Given the description of an element on the screen output the (x, y) to click on. 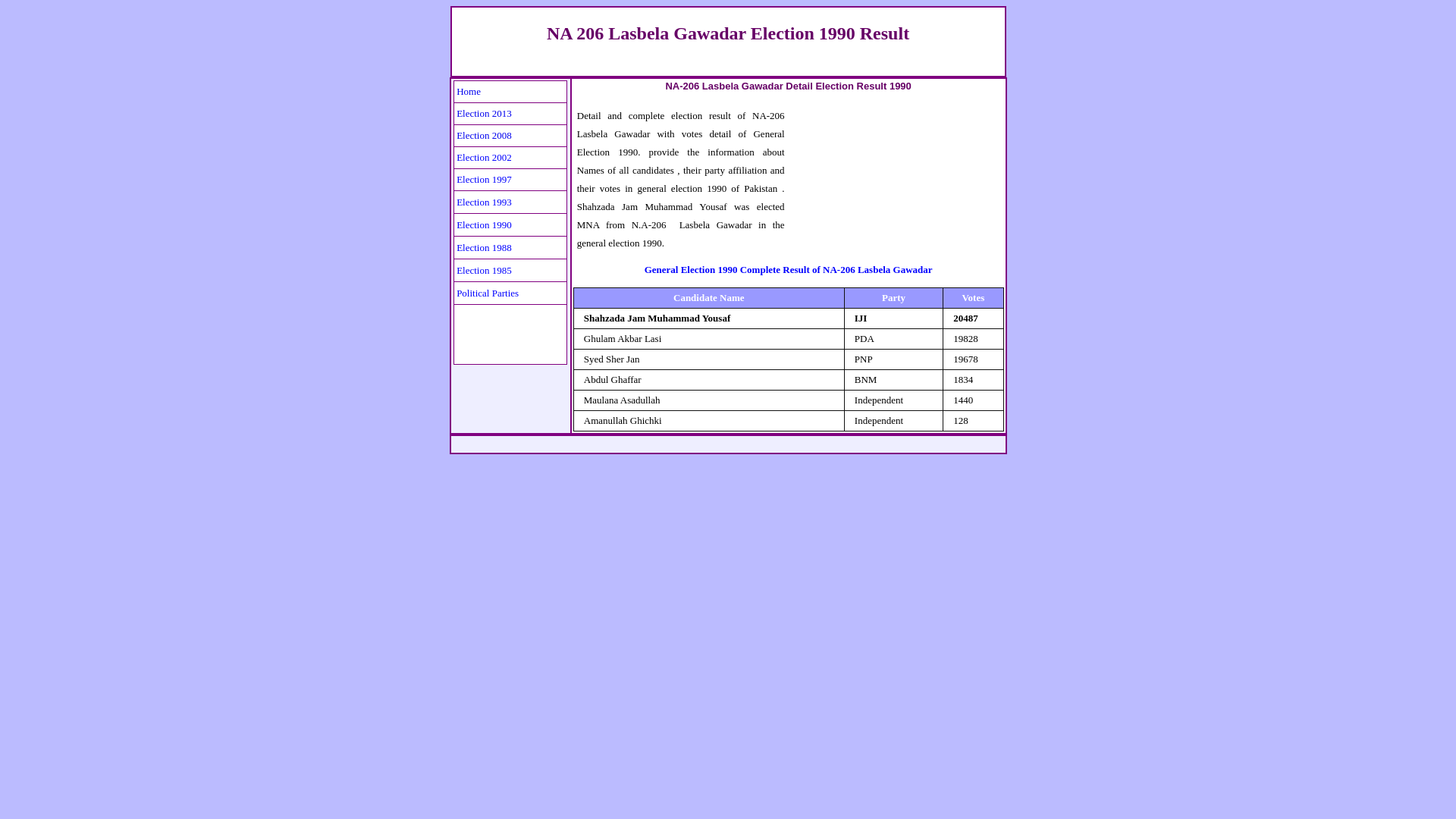
Election 1990 (484, 223)
Political Parties (487, 291)
Election 2002 (484, 155)
Election 1985 (484, 268)
Election 1997 (484, 178)
Election 2013 (484, 112)
Home (468, 91)
Election 2008 (484, 134)
Election 1988 (484, 245)
Election 1993 (484, 200)
